Given the description of an element on the screen output the (x, y) to click on. 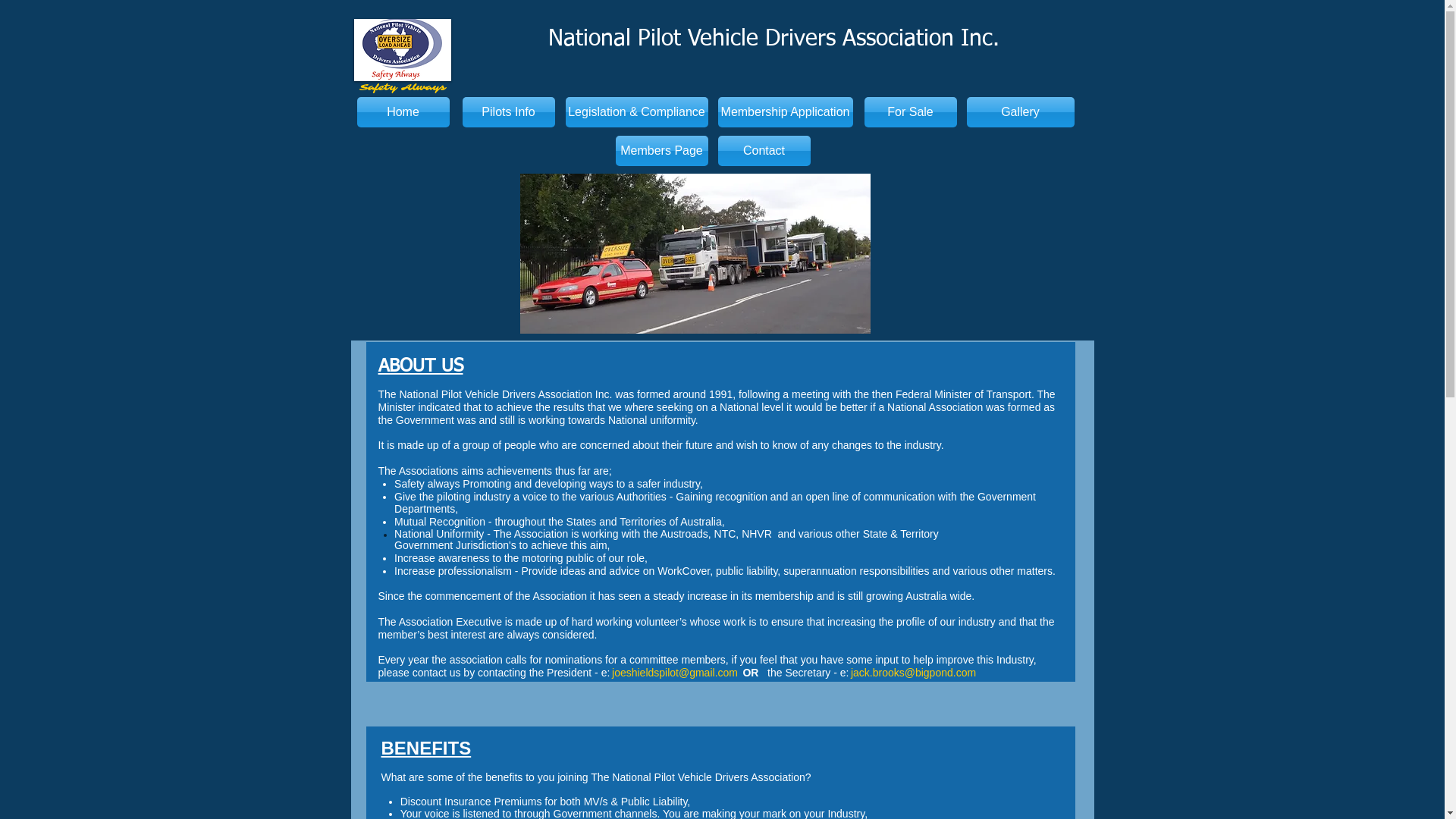
Membership Application Element type: text (784, 112)
jack.brooks@bigpond.com Element type: text (912, 672)
Pilots Info Element type: text (508, 112)
Members Page Element type: text (661, 150)
Home Element type: text (402, 112)
joeshieldspilot@gmail.com Element type: text (674, 672)
For Sale Element type: text (910, 112)
Contact Element type: text (763, 150)
Legislation & Compliance Element type: text (636, 112)
